Given the description of an element on the screen output the (x, y) to click on. 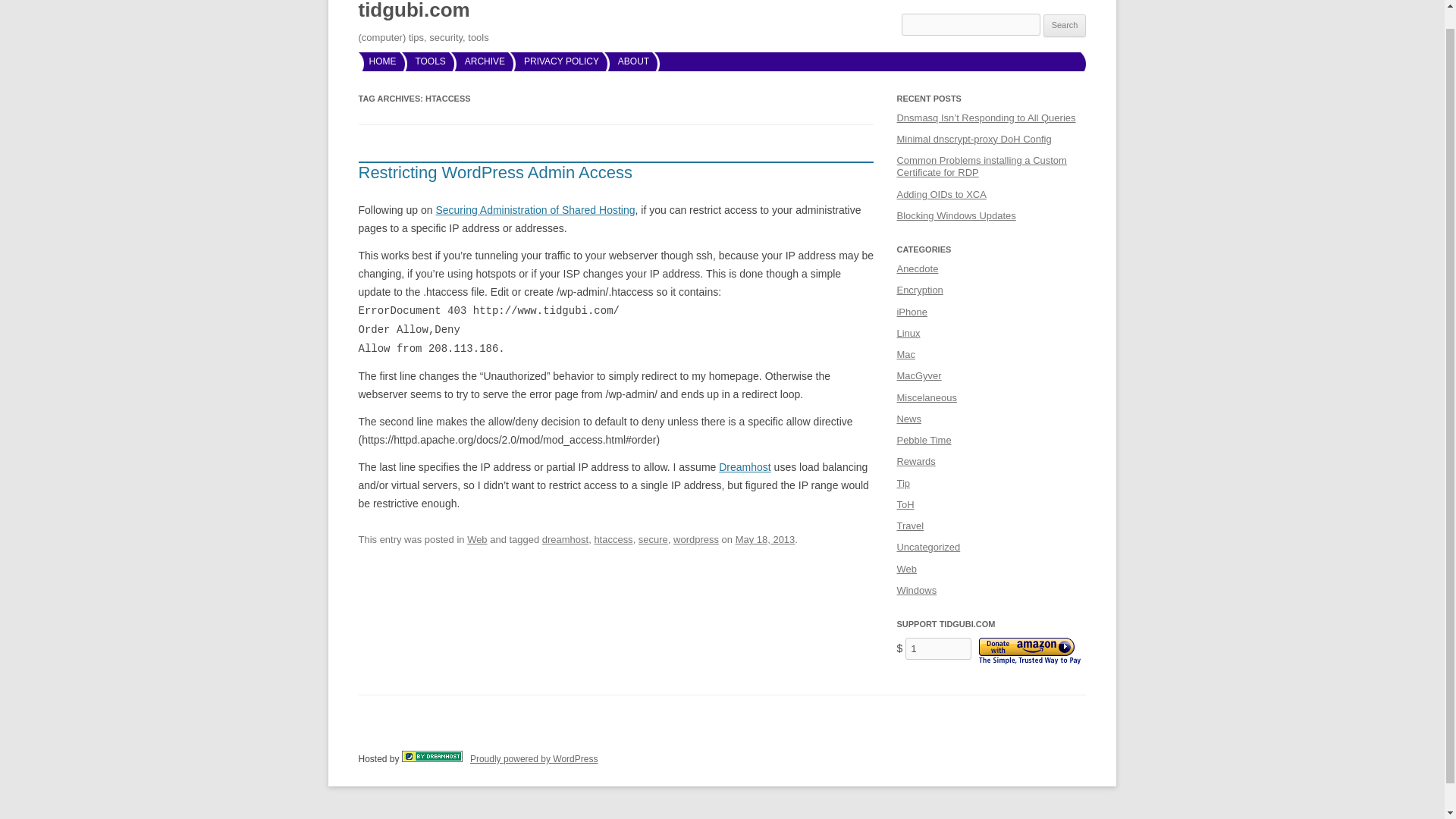
Common Problems installing a Custom Certificate for RDP (980, 166)
Restricting WordPress Admin Access (494, 171)
Anecdote (916, 268)
Linux (908, 333)
tidgubi.com (413, 14)
wordpress (695, 539)
7:08 pm (764, 539)
TOOLS (429, 61)
Blocking Windows Updates (955, 215)
Securing Administration of Shared Hosting (534, 209)
